Given the description of an element on the screen output the (x, y) to click on. 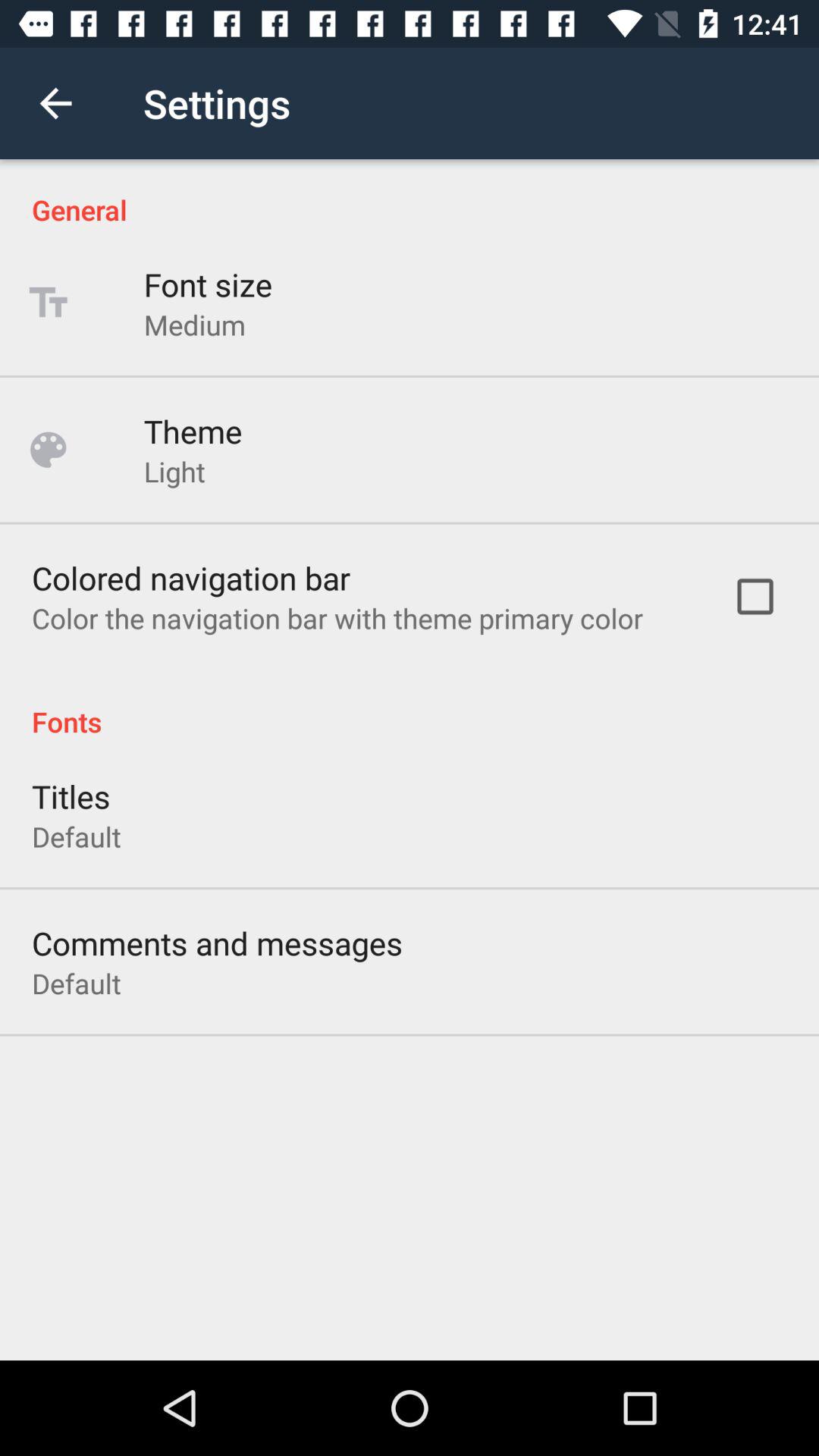
press the icon above the default icon (216, 942)
